Given the description of an element on the screen output the (x, y) to click on. 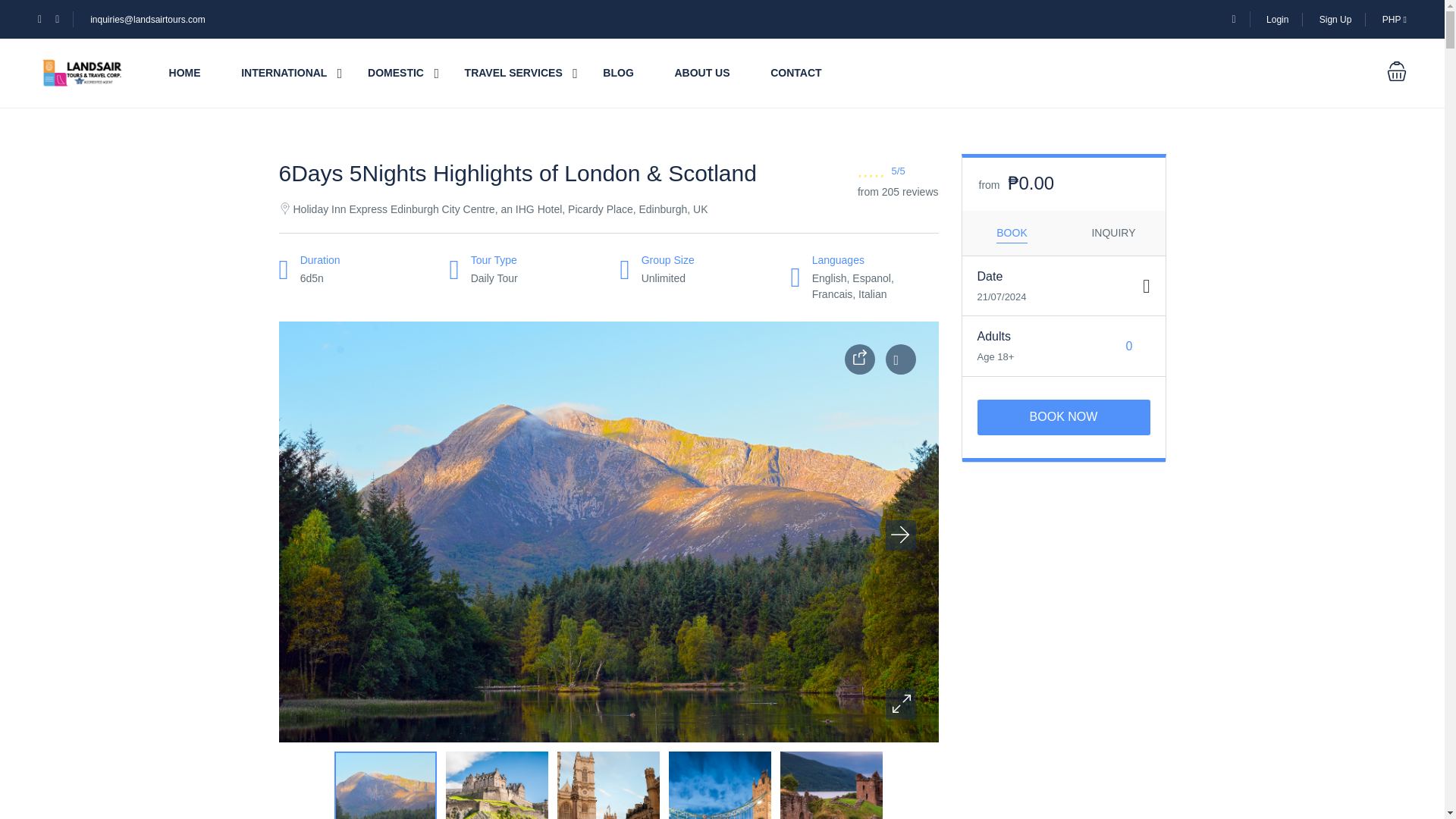
HOME (184, 72)
0 (1129, 346)
PHP (1393, 19)
Login (1277, 19)
DOMESTIC (395, 72)
Sign Up (1335, 19)
INTERNATIONAL (284, 72)
